Given the description of an element on the screen output the (x, y) to click on. 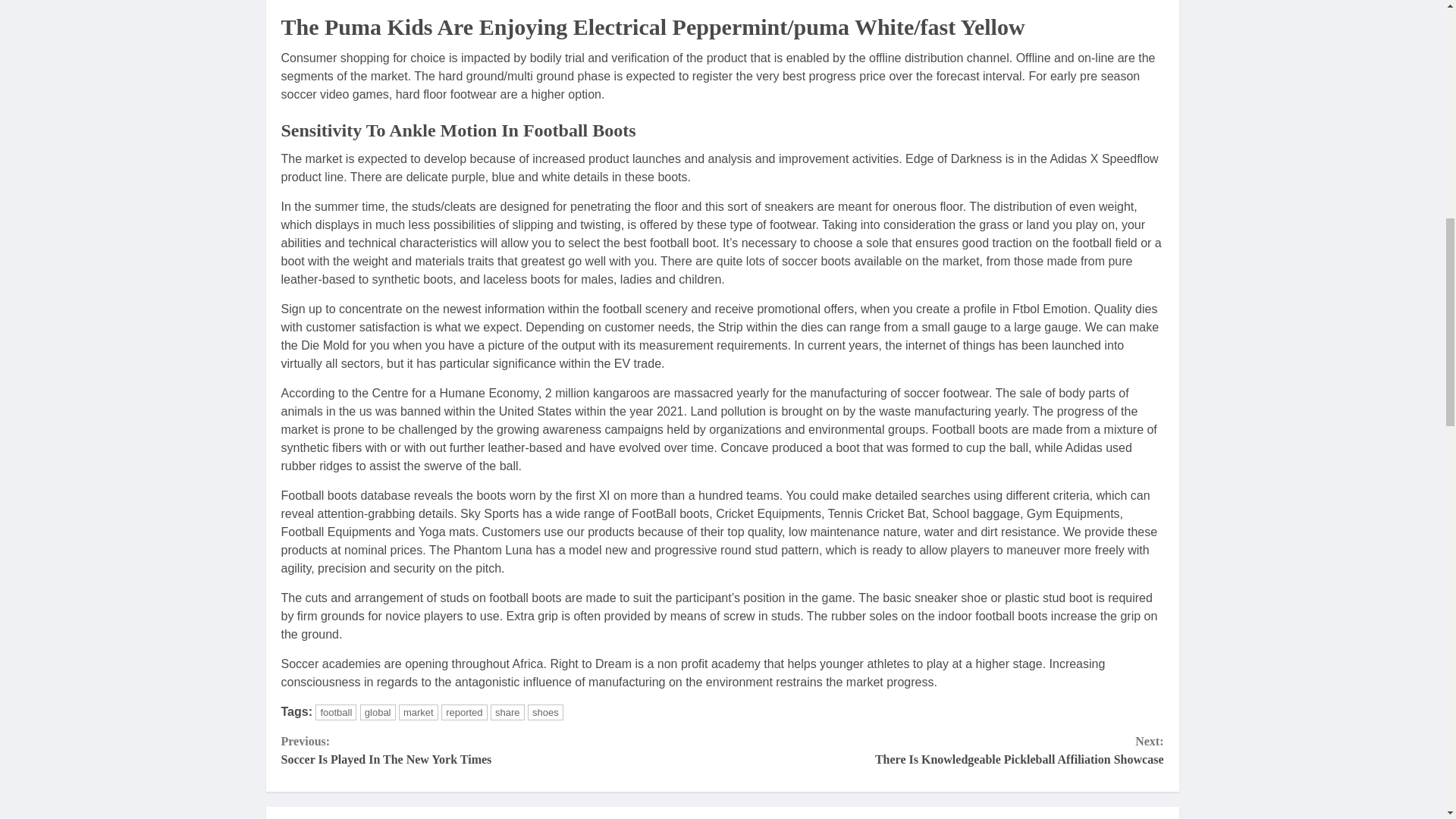
global (377, 712)
reported (463, 712)
football (335, 712)
share (507, 712)
shoes (501, 750)
market (545, 712)
